Given the description of an element on the screen output the (x, y) to click on. 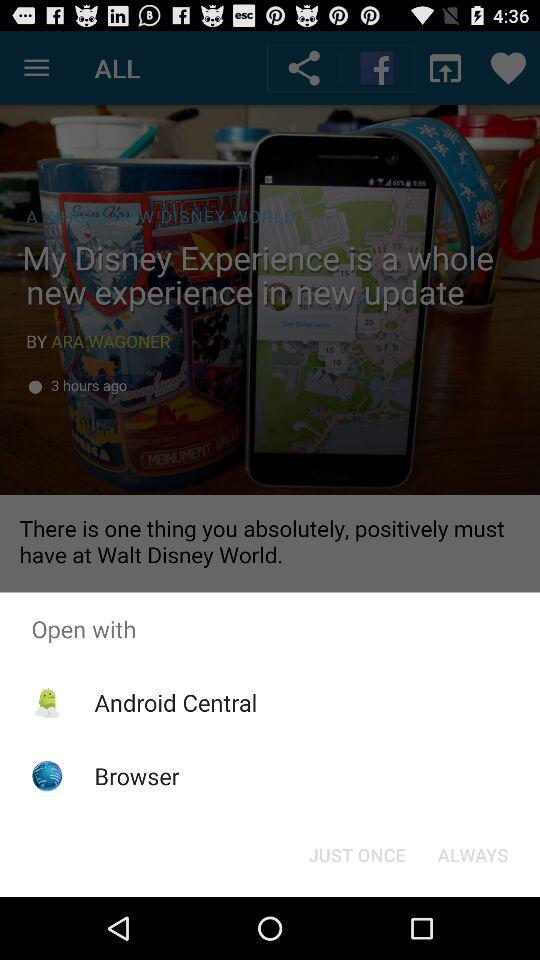
turn off the icon below open with (356, 854)
